Given the description of an element on the screen output the (x, y) to click on. 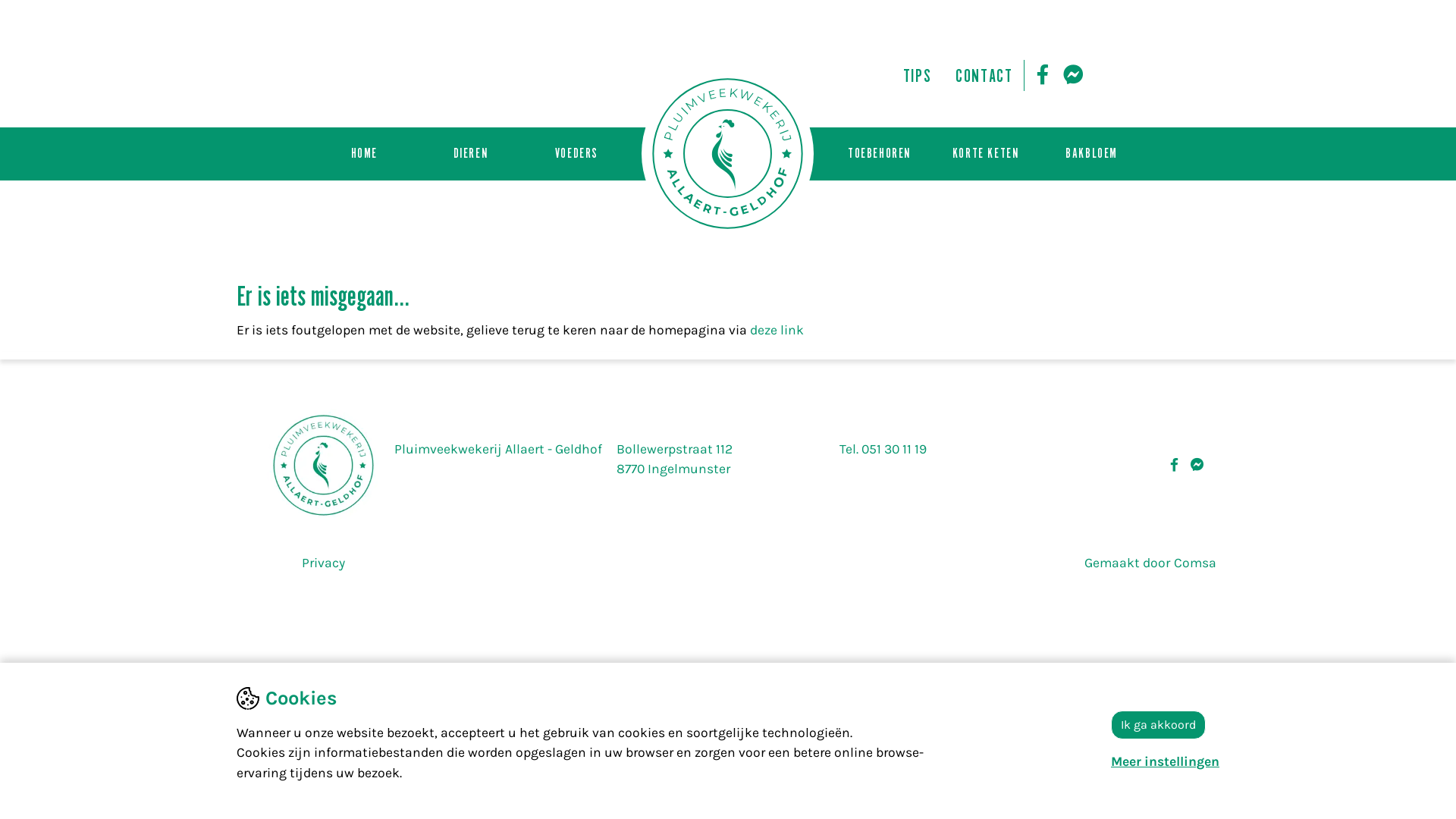
TIPS Element type: text (917, 75)
CONTACT Element type: text (983, 75)
Tel. 051 30 11 19 Element type: text (882, 448)
Ik ga akkoord Element type: text (1157, 724)
deze link Element type: text (776, 329)
KORTE KETEN Element type: text (985, 153)
HOME Element type: text (363, 153)
Logo-Pluimveekwekerij Allaert - Geldhof Element type: hover (323, 464)
Meer instellingen Element type: text (1164, 760)
Privacy Element type: text (323, 562)
Comsa Element type: text (1188, 561)
DIEREN Element type: text (470, 153)
VOEDERS Element type: text (576, 153)
TOEBEHOREN Element type: text (879, 153)
BAKBLOEM Element type: text (1091, 153)
